Given the description of an element on the screen output the (x, y) to click on. 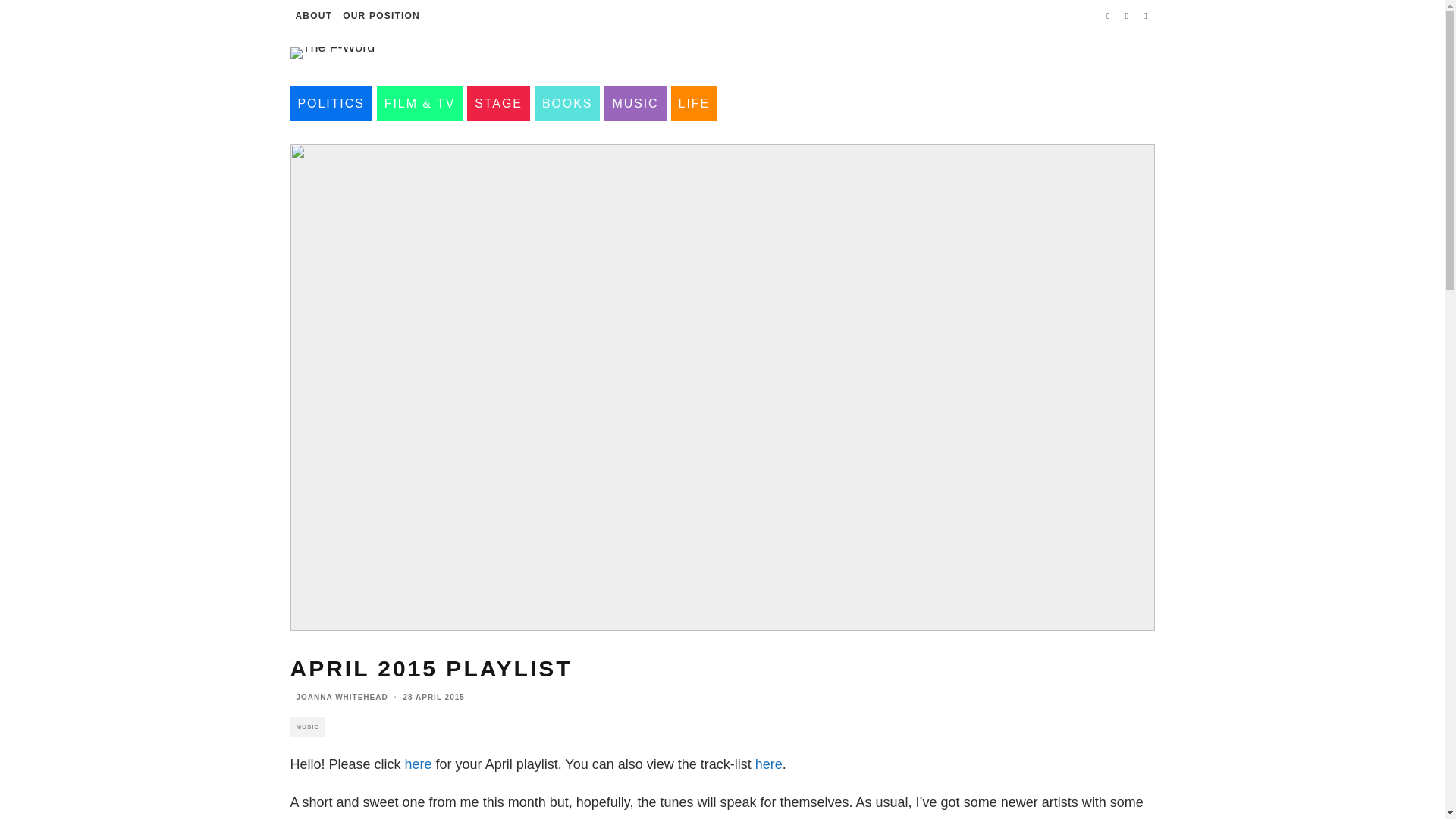
STAGE (498, 103)
OUR POSITION (381, 15)
POLITICS (330, 103)
BOOKS (566, 103)
ABOUT (313, 15)
